Given the description of an element on the screen output the (x, y) to click on. 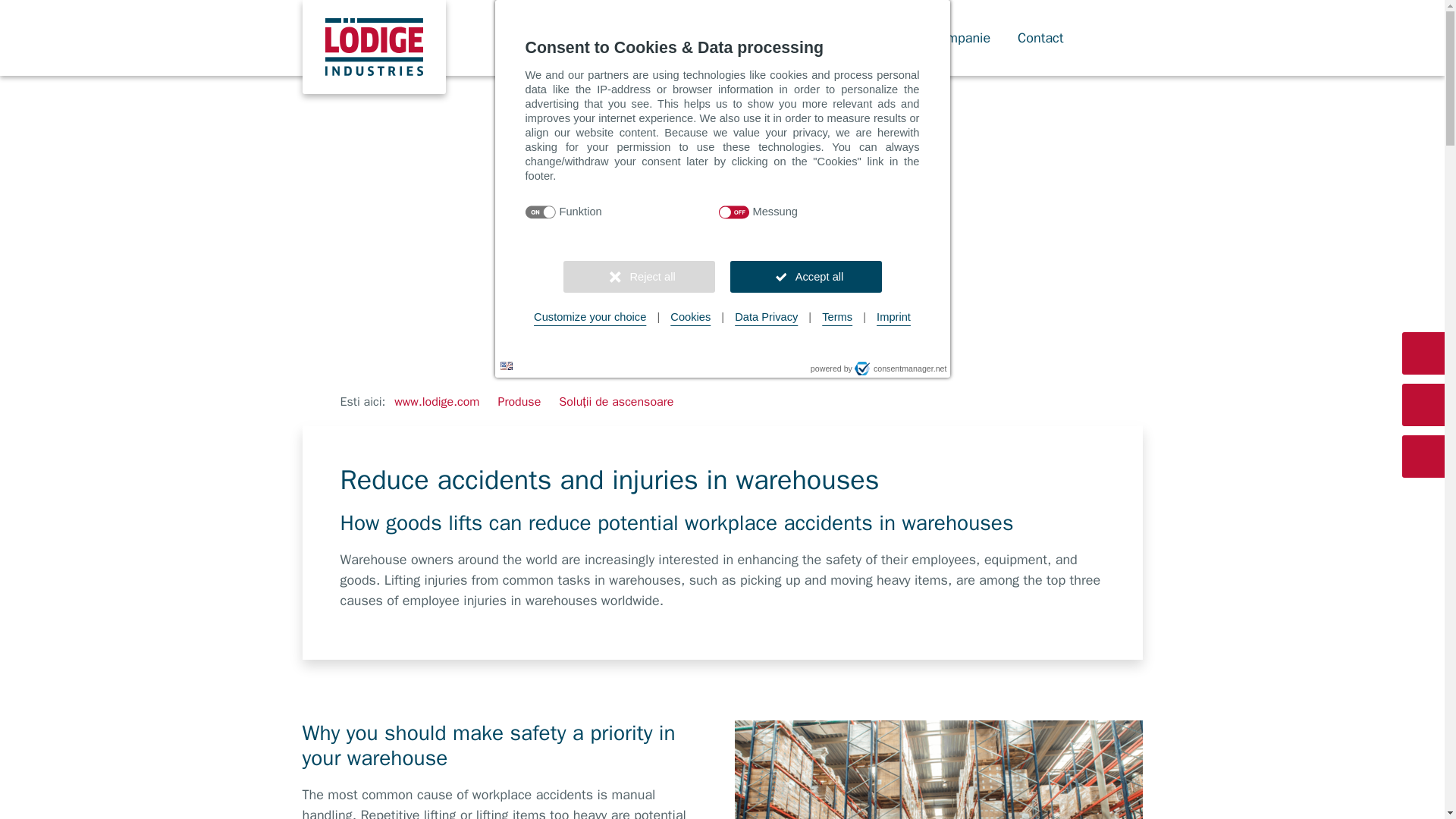
Language: en (506, 365)
Produse (815, 38)
Customize your choice (589, 316)
www.lodige.com (436, 401)
Imprint (893, 316)
Purpose (721, 212)
Companie (968, 38)
Accept all (804, 276)
Data Privacy (765, 316)
Produse (518, 401)
Terms (836, 316)
consentmanager.net (900, 368)
Reject all (638, 276)
Service (889, 38)
Contact (1047, 38)
